Given the description of an element on the screen output the (x, y) to click on. 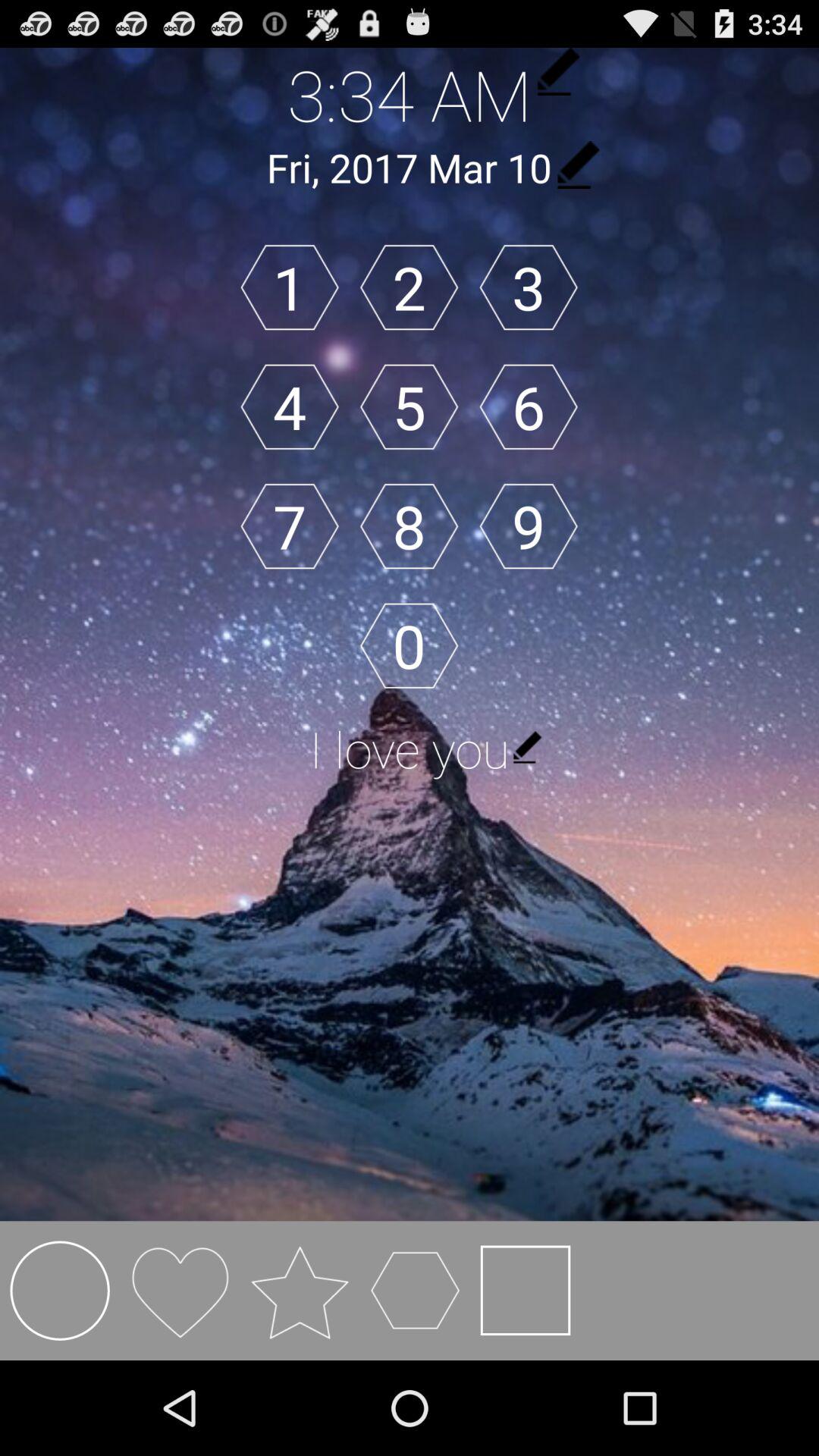
swipe to 8 item (408, 526)
